Given the description of an element on the screen output the (x, y) to click on. 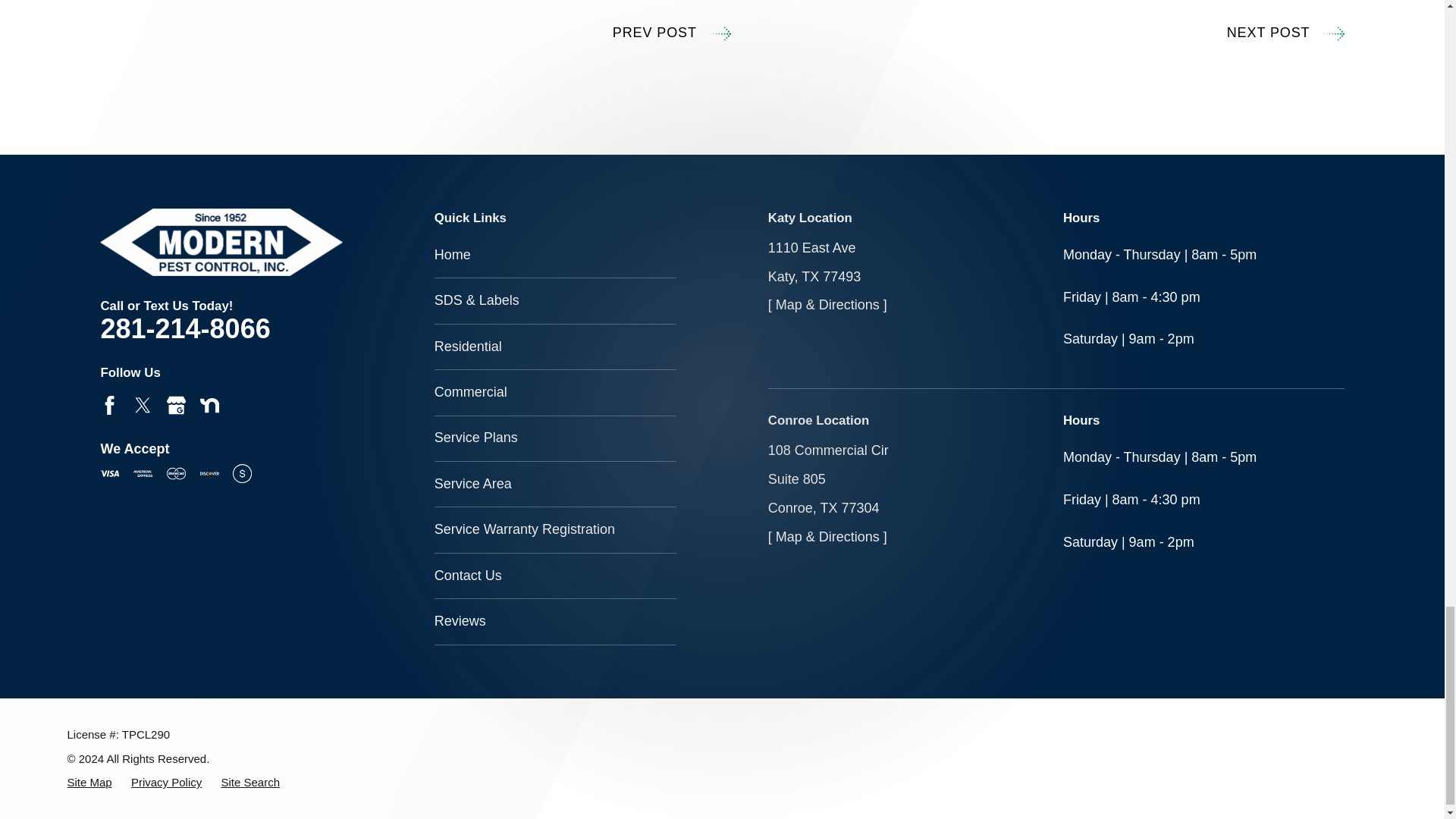
Nextdoor (209, 404)
AMEX (142, 473)
Discover (209, 473)
Google Business Profile (176, 404)
Cash (241, 473)
Home (221, 242)
Twitter (142, 404)
Facebook (109, 404)
Visa (109, 473)
MasterCard (176, 473)
